Given the description of an element on the screen output the (x, y) to click on. 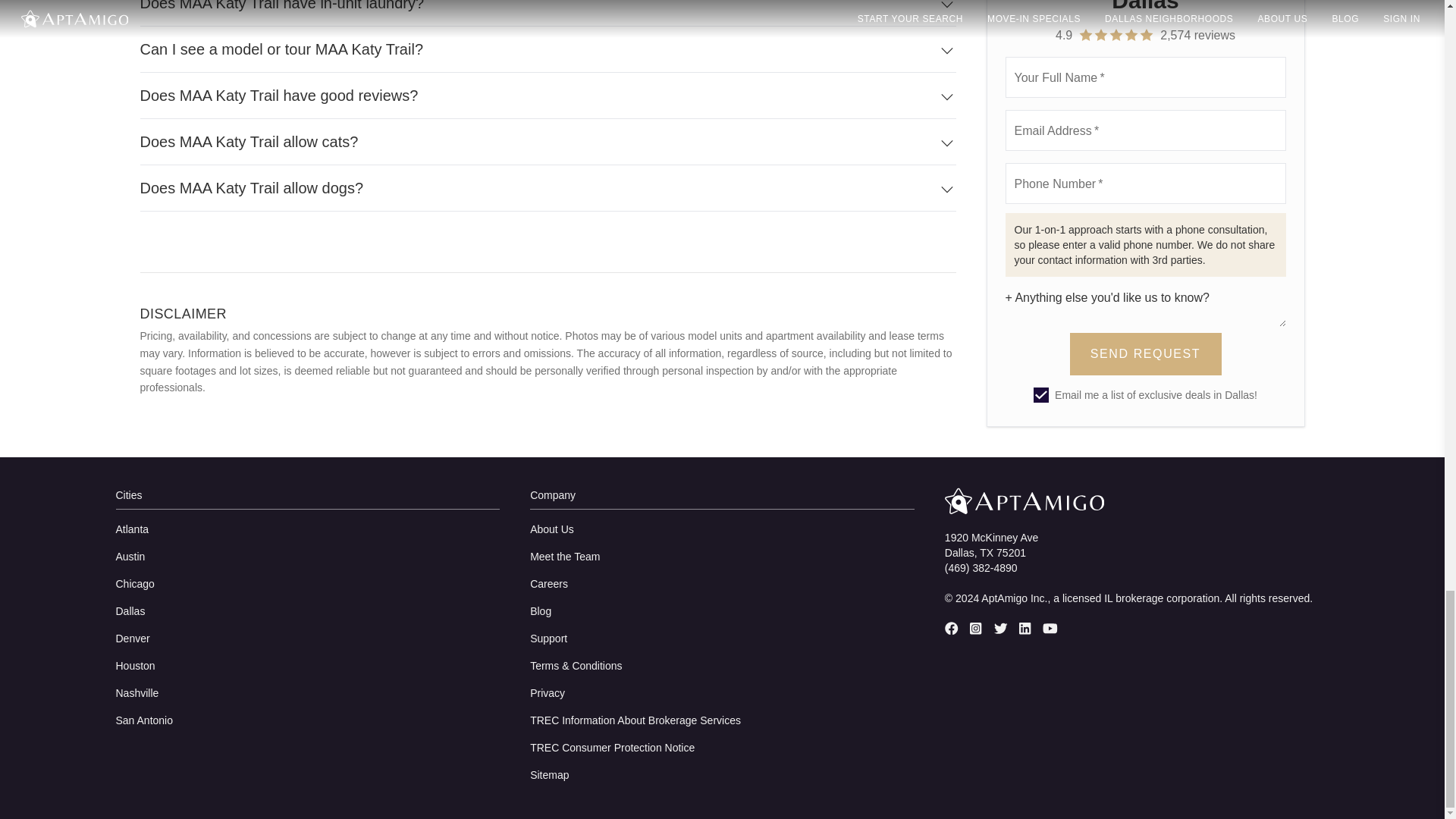
Does MAA Katy Trail have good reviews? (547, 95)
Does MAA Katy Trail allow dogs? (547, 188)
Does MAA Katy Trail have in-unit laundry? (547, 13)
Can I see a model or tour MAA Katy Trail? (547, 49)
Does MAA Katy Trail allow cats? (547, 141)
